Given the description of an element on the screen output the (x, y) to click on. 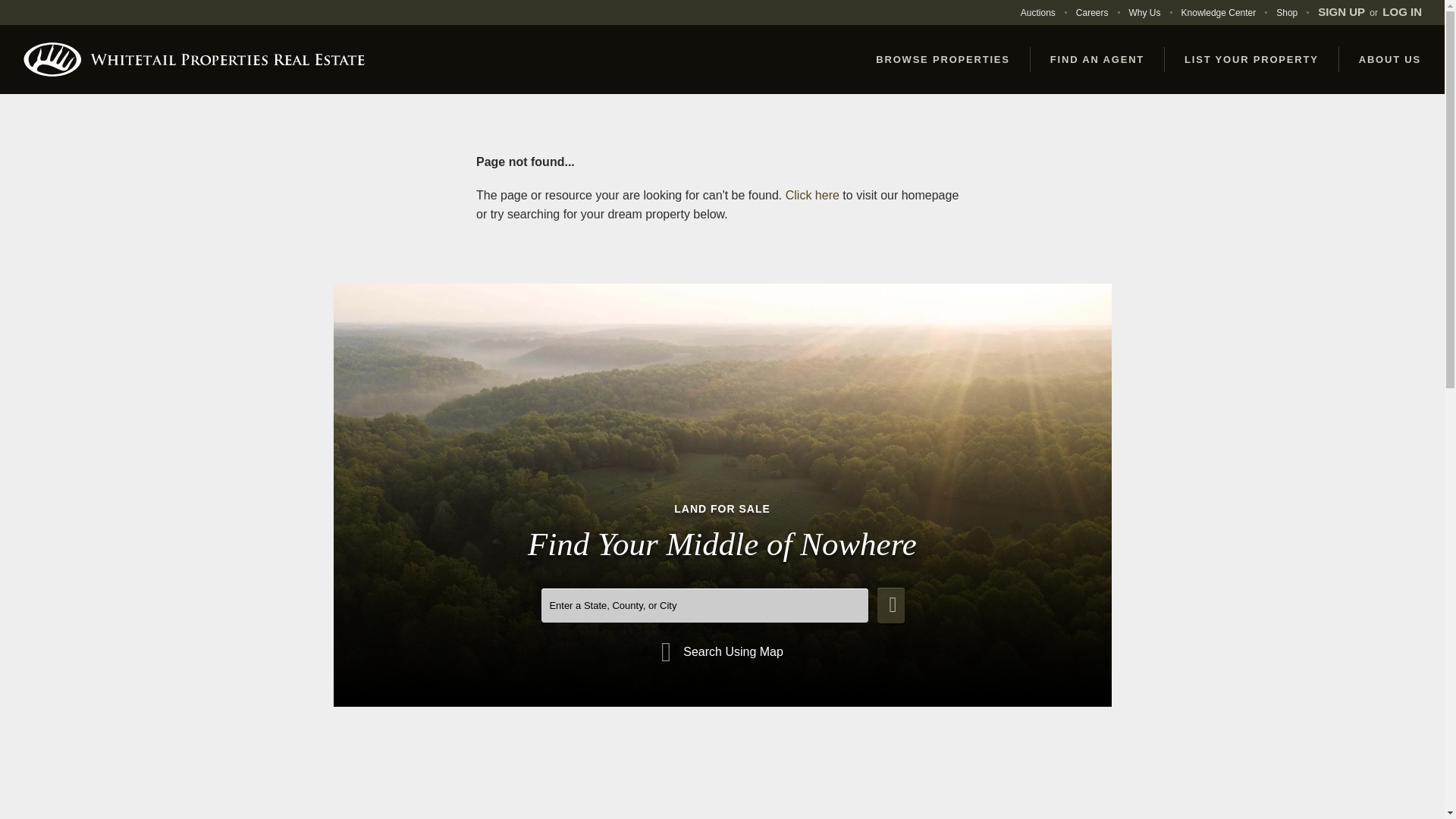
FIND AN AGENT (1097, 59)
BROWSE PROPERTIES (943, 59)
LIST YOUR PROPERTY (1251, 59)
Search Using Map (722, 652)
Auctions (1037, 12)
Why Us (1144, 12)
Knowledge Center (1218, 12)
SIGN UP (1342, 12)
Whitetail Properties (194, 59)
Careers (1091, 12)
ABOUT US (1390, 59)
Click here (813, 195)
LOG IN (1401, 12)
